Given the description of an element on the screen output the (x, y) to click on. 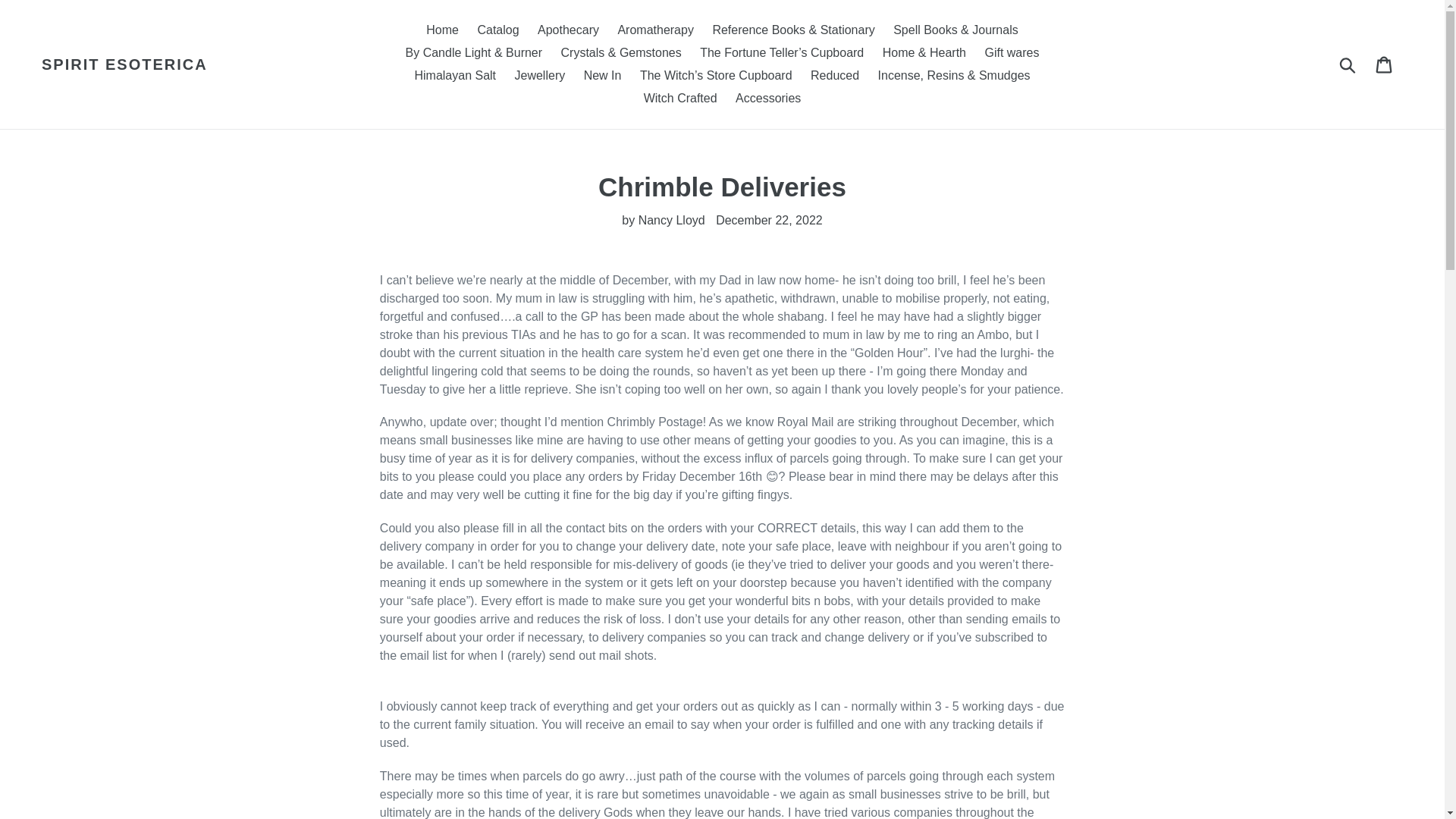
Accessories (768, 97)
Submit (1348, 64)
Gift wares (1011, 52)
Himalayan Salt (454, 75)
Reduced (834, 75)
Catalog (496, 29)
Aromatherapy (655, 29)
Apothecary (568, 29)
SPIRIT ESOTERICA (125, 64)
Home (442, 29)
